Given the description of an element on the screen output the (x, y) to click on. 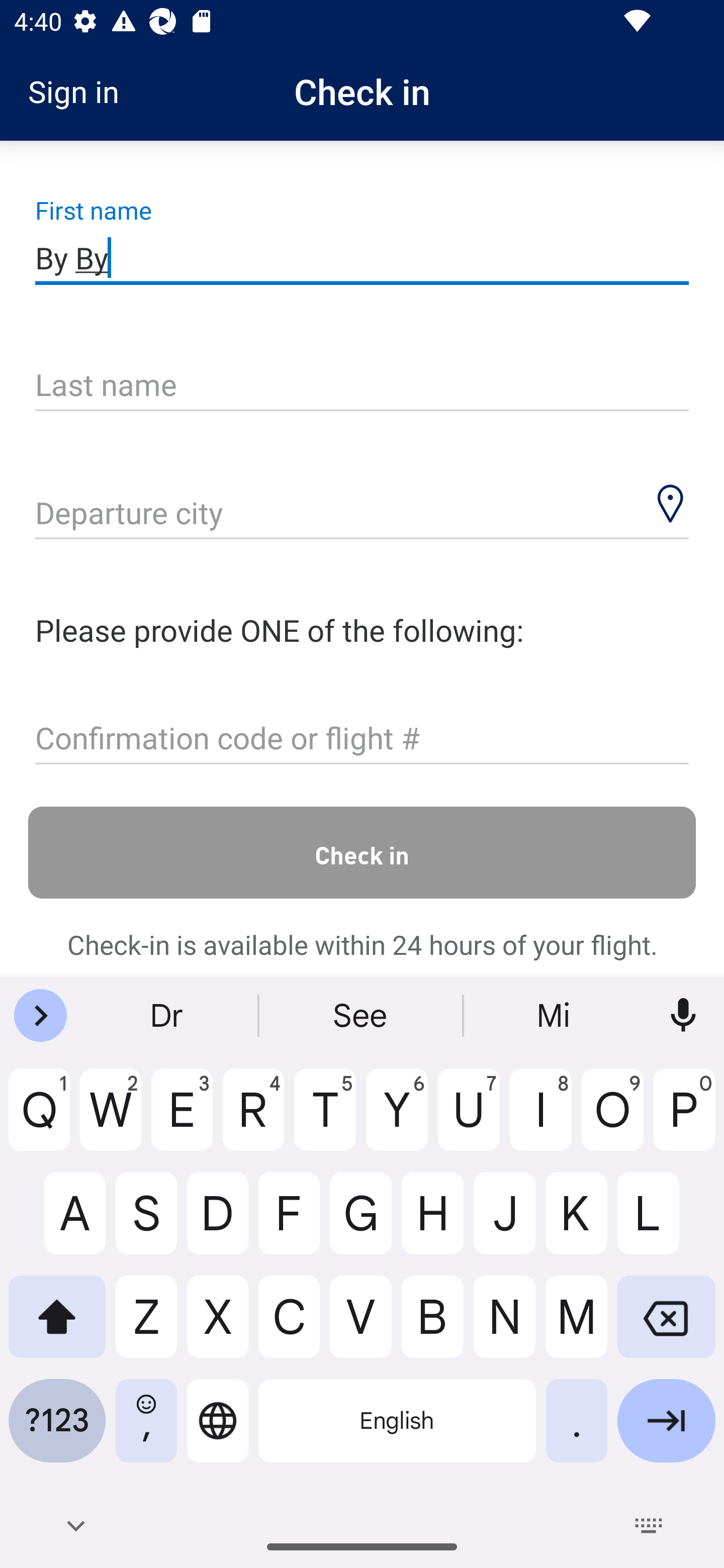
Sign in (80, 91)
By By First name (361, 257)
Last name (361, 386)
Departure city (361, 514)
Check in (361, 851)
